Given the description of an element on the screen output the (x, y) to click on. 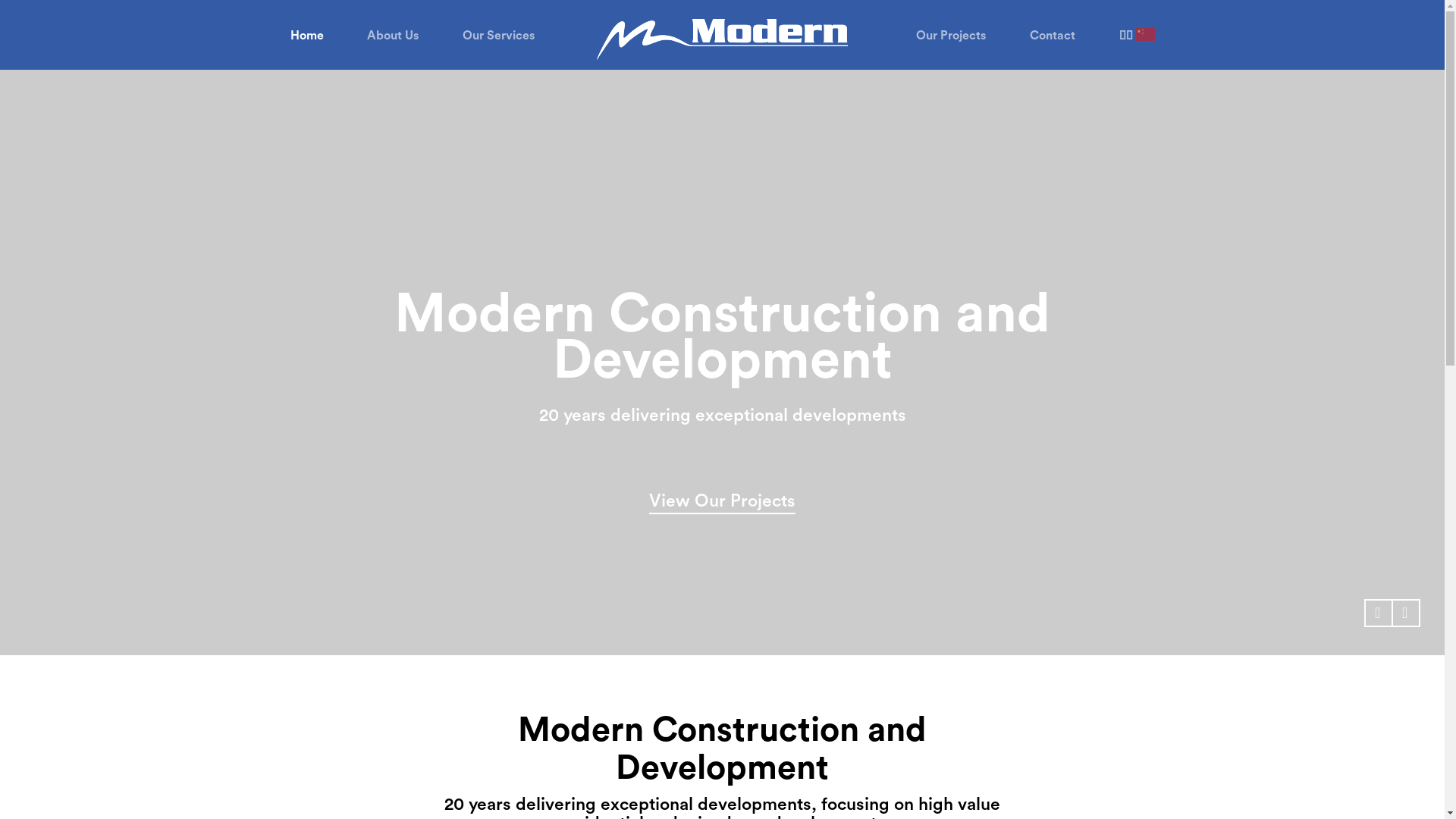
Our Services Element type: text (498, 36)
View Our Projects Element type: text (722, 473)
Home Element type: text (306, 36)
Contact Element type: text (1052, 36)
About Us Element type: text (392, 36)
Our Projects Element type: text (950, 36)
